Given the description of an element on the screen output the (x, y) to click on. 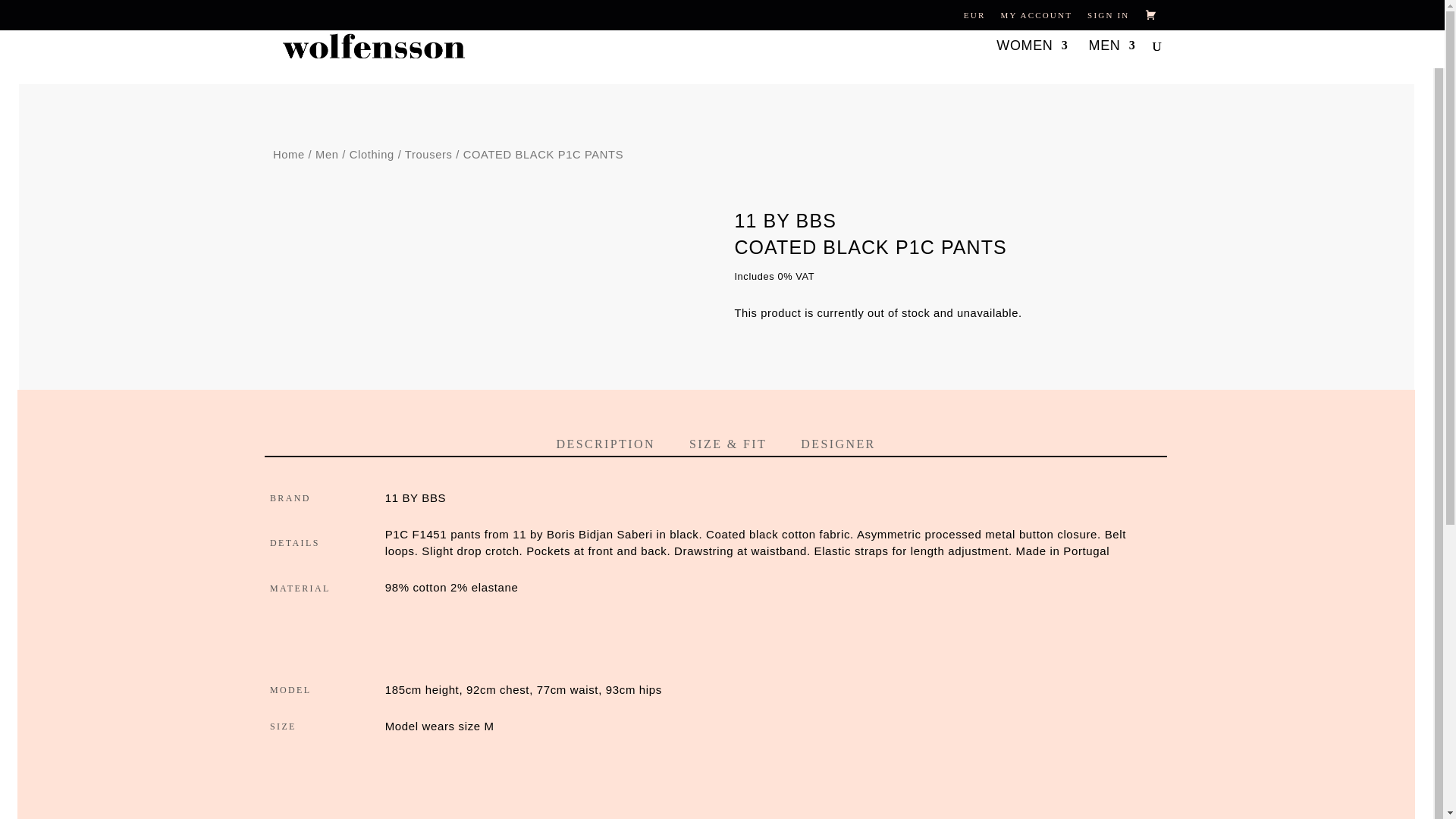
MEN (1112, 47)
MY ACCOUNT (1036, 15)
EUR (974, 15)
WOMEN (1031, 47)
SIGN IN (1108, 15)
